Given the description of an element on the screen output the (x, y) to click on. 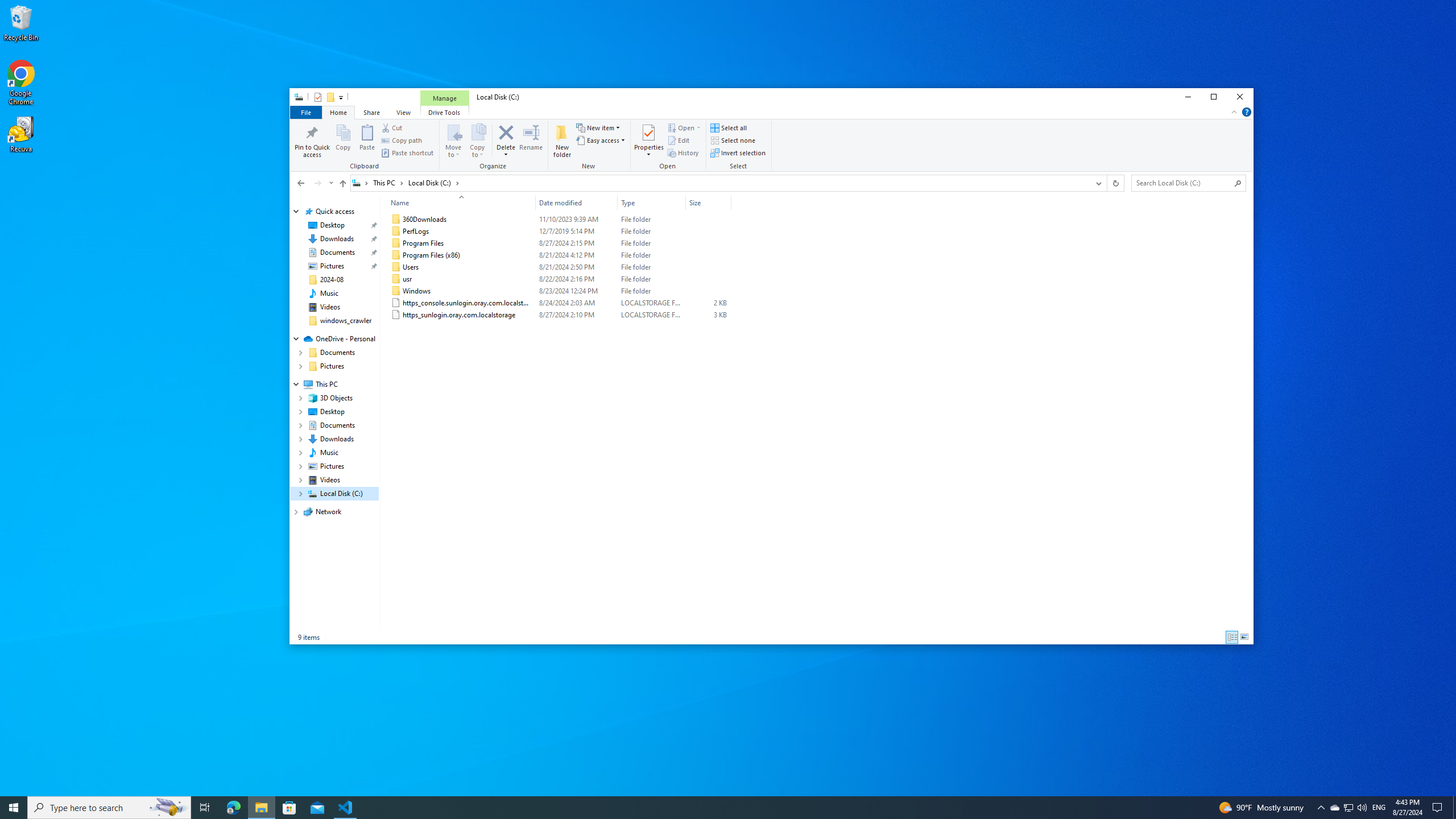
Notification Chevron (1320, 807)
Copy to (477, 140)
Home (338, 111)
Manage (444, 97)
File Explorer - 1 running window (261, 807)
Date modified (576, 314)
PerfLogs (558, 231)
Videos (329, 306)
Select all (728, 128)
Properties (649, 150)
Minimize the Ribbon (1233, 111)
windows_crawler (345, 320)
Cut (392, 128)
Rename (531, 140)
Customize Quick Access Toolbar (341, 96)
